Given the description of an element on the screen output the (x, y) to click on. 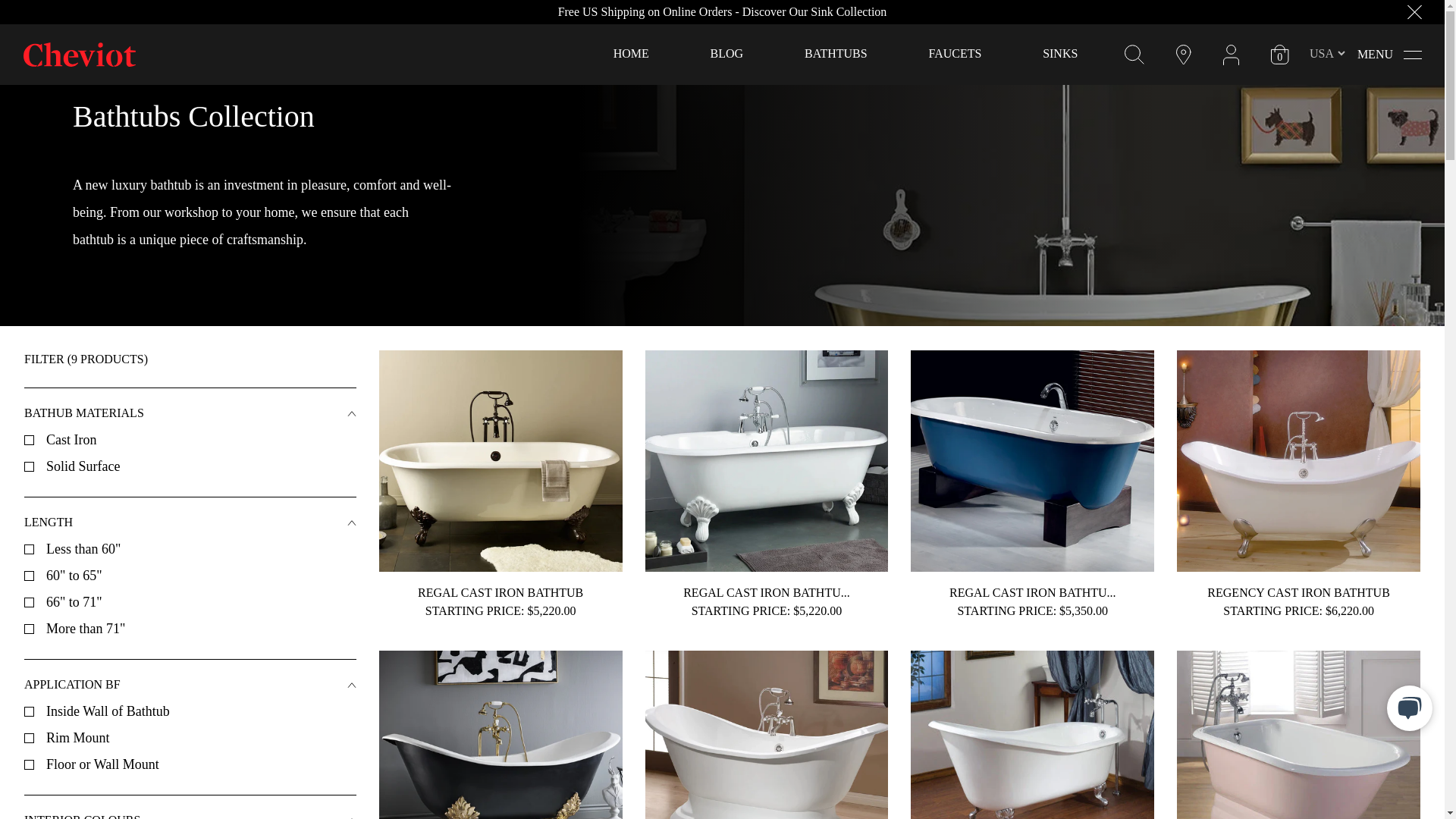
on (28, 628)
on (28, 602)
on (28, 439)
0 (1279, 54)
on (28, 549)
on (28, 465)
BATHTUBS (836, 52)
on (28, 737)
on (28, 574)
on (28, 711)
BLOG (727, 52)
HOME (630, 52)
FAUCETS (954, 52)
on (28, 764)
